Given the description of an element on the screen output the (x, y) to click on. 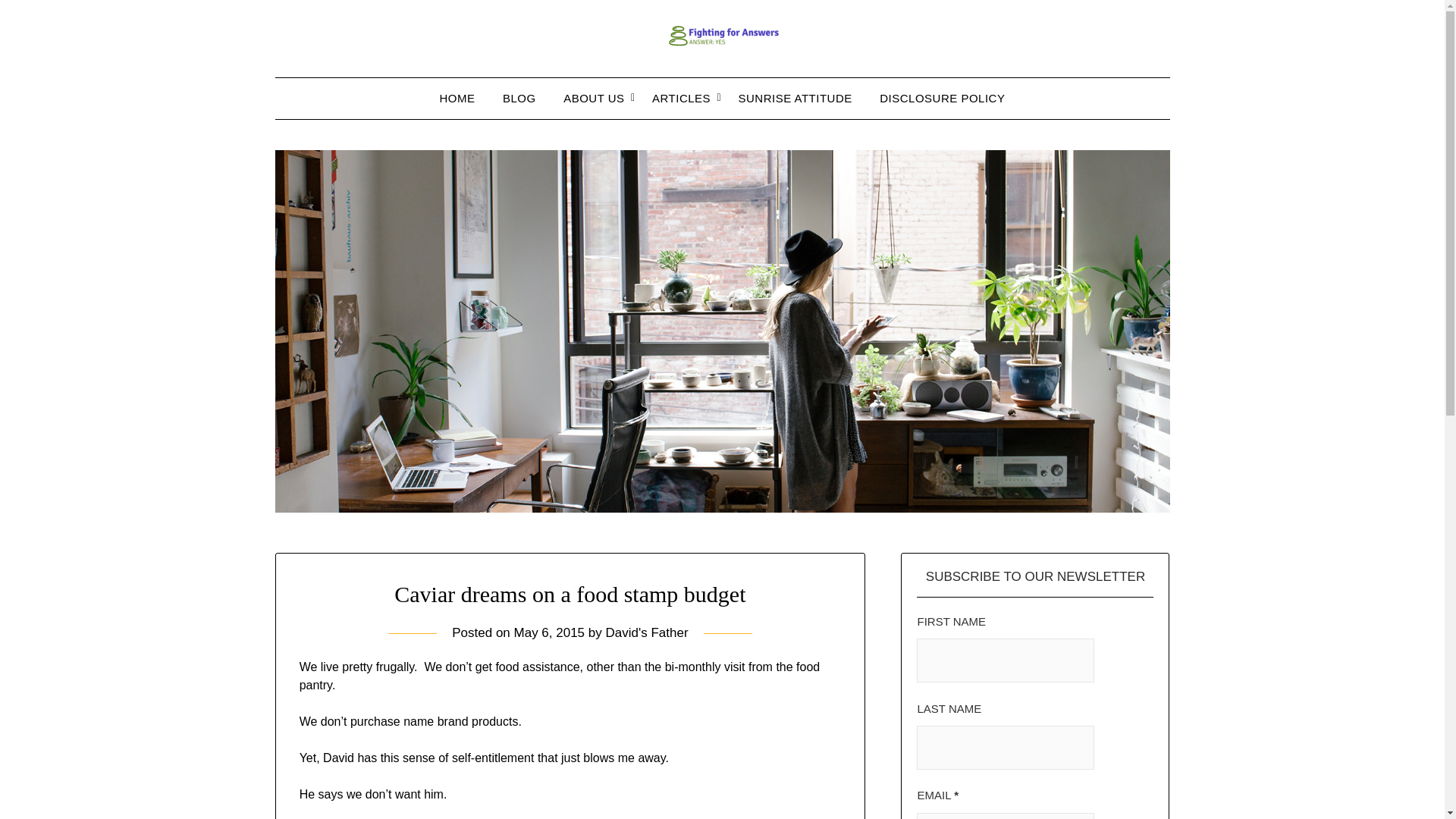
Email (1005, 816)
First name (1005, 660)
SUNRISE ATTITUDE (795, 97)
DISCLOSURE POLICY (941, 97)
Last name (1005, 747)
May 6, 2015 (549, 632)
BLOG (519, 97)
David's Father (646, 632)
HOME (457, 97)
ARTICLES (681, 97)
